Given the description of an element on the screen output the (x, y) to click on. 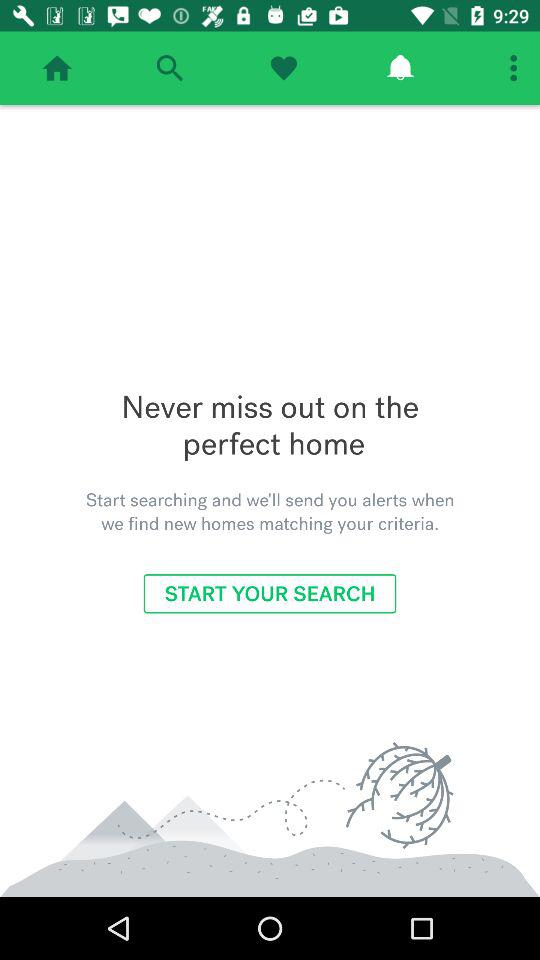
favorite the post (283, 68)
